Given the description of an element on the screen output the (x, y) to click on. 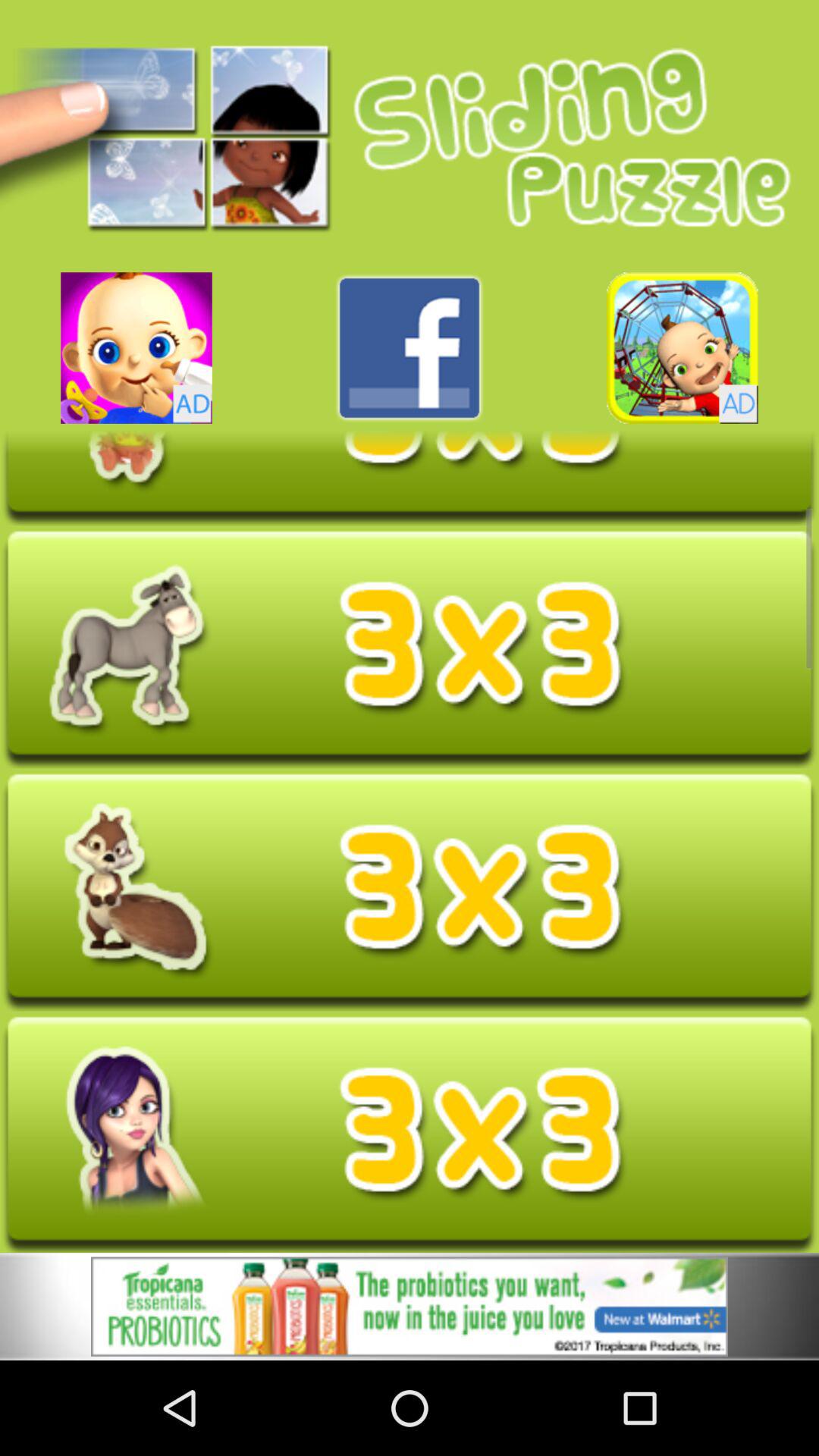
open advertisement (682, 347)
